Given the description of an element on the screen output the (x, y) to click on. 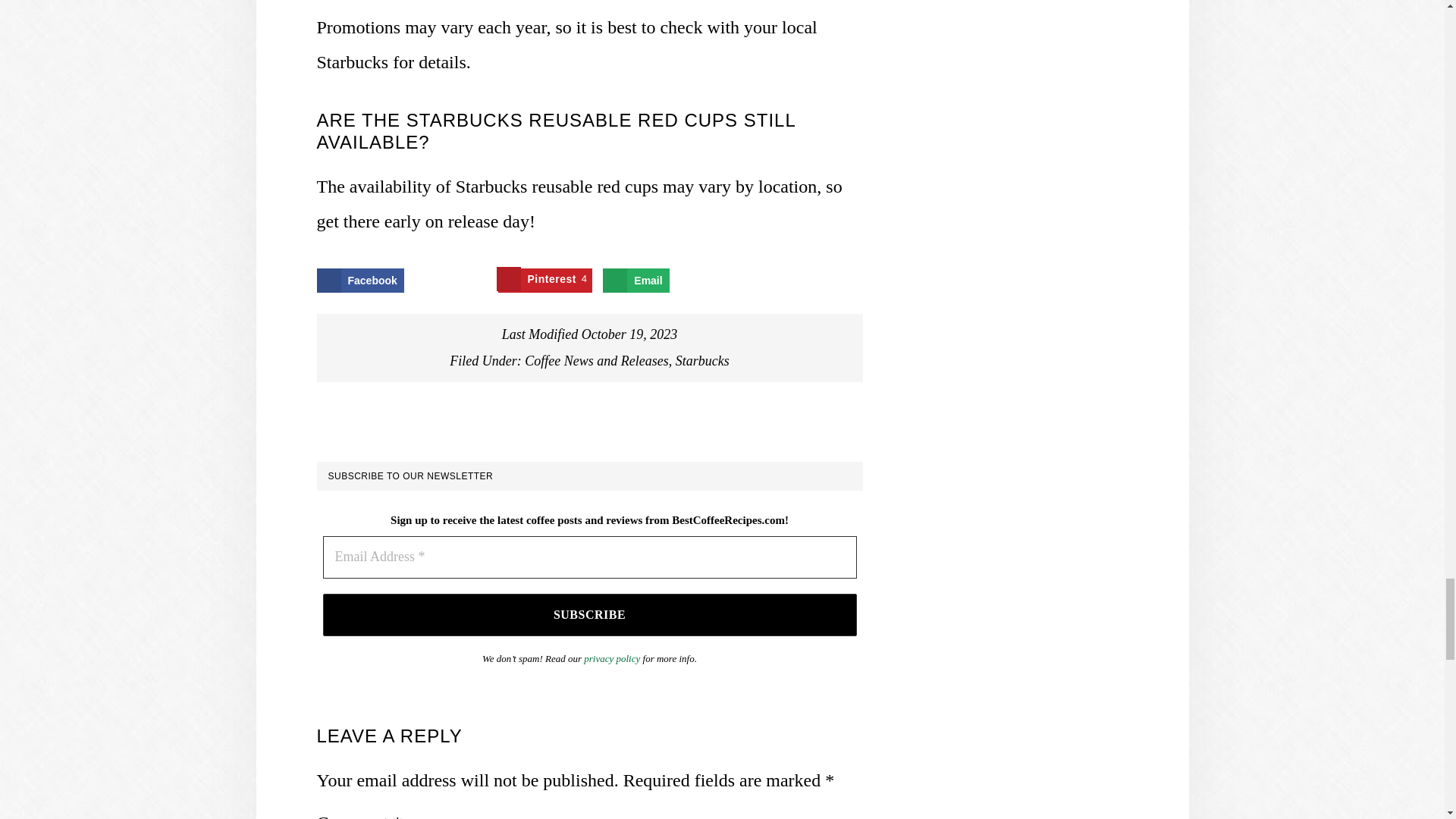
Share on X (450, 280)
Facebook (360, 280)
Email (635, 280)
Email Address (590, 557)
Subscribe (590, 614)
Save to Pinterest (544, 280)
Send over email (635, 280)
Twitter (450, 280)
Share on Facebook (360, 280)
Coffee News and Releases (596, 360)
Subscribe (544, 280)
Starbucks (590, 614)
privacy policy (702, 360)
